Given the description of an element on the screen output the (x, y) to click on. 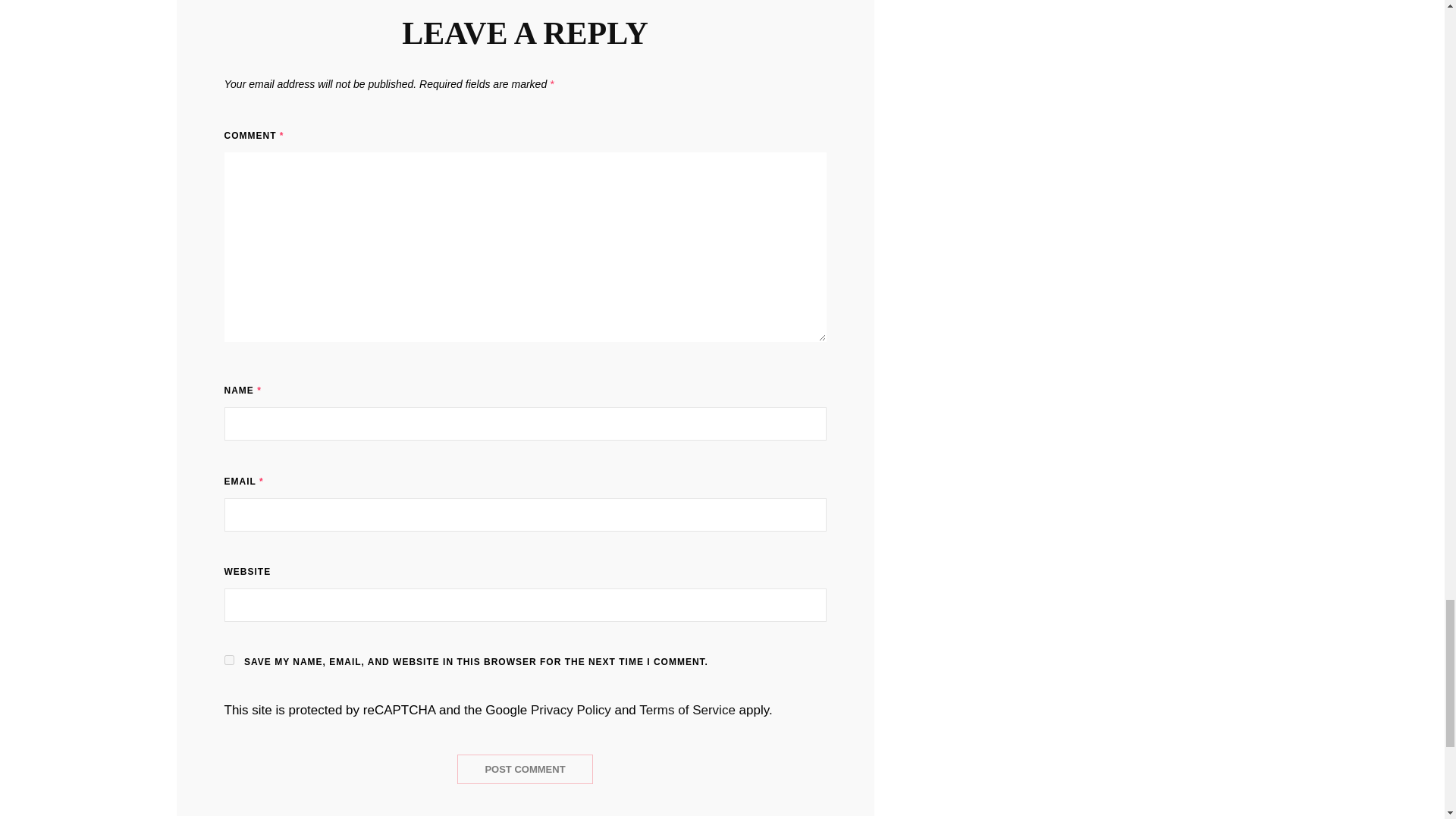
Post Comment (524, 768)
Privacy Policy (571, 709)
Terms of Service (687, 709)
Post Comment (524, 768)
yes (229, 660)
